Given the description of an element on the screen output the (x, y) to click on. 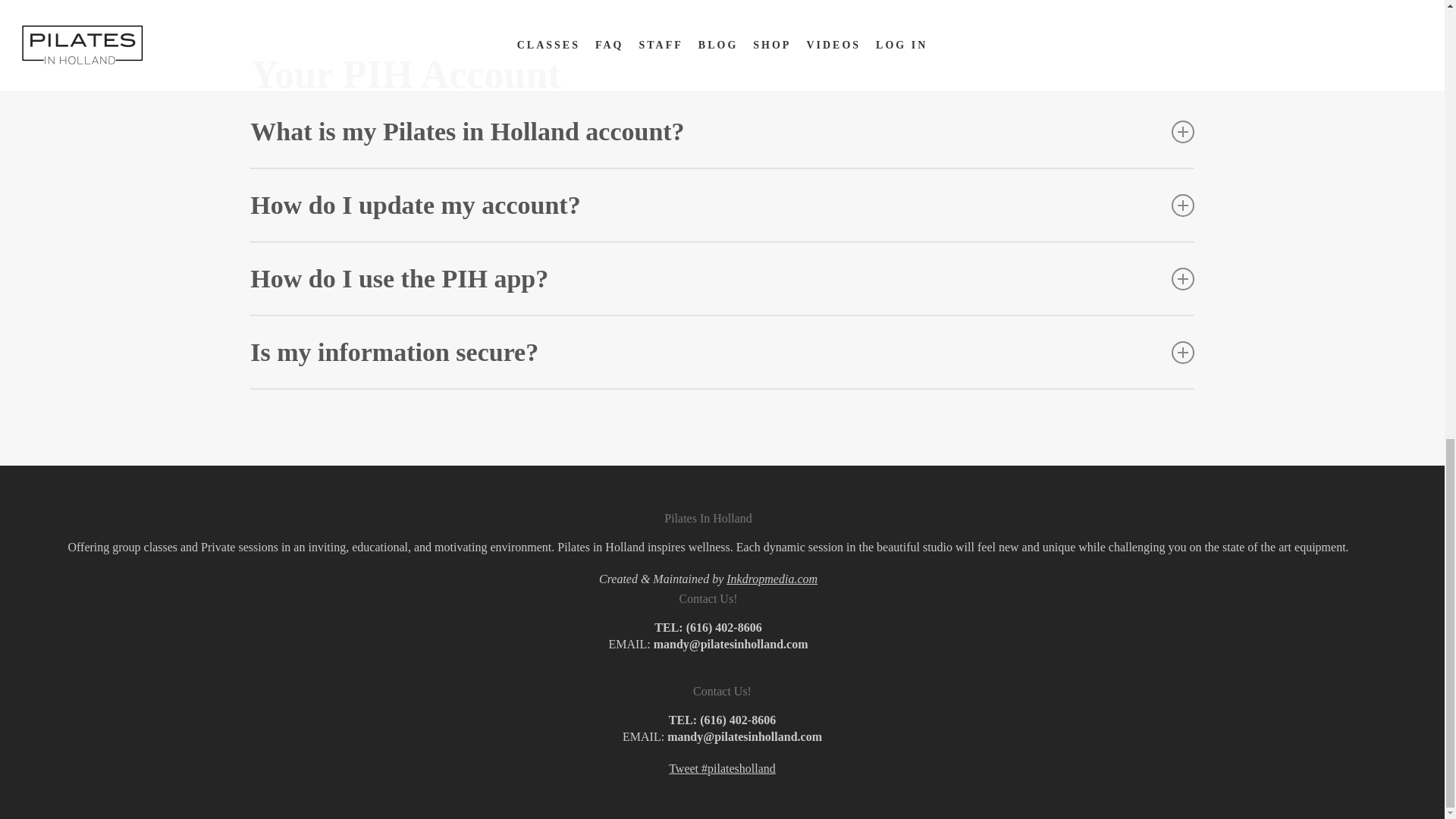
What is my Pilates in Holland account? (721, 131)
Call with Google Voice (723, 626)
How do I use the PIH app? (721, 278)
Send (279, 6)
How do I update my account? (721, 204)
